Given the description of an element on the screen output the (x, y) to click on. 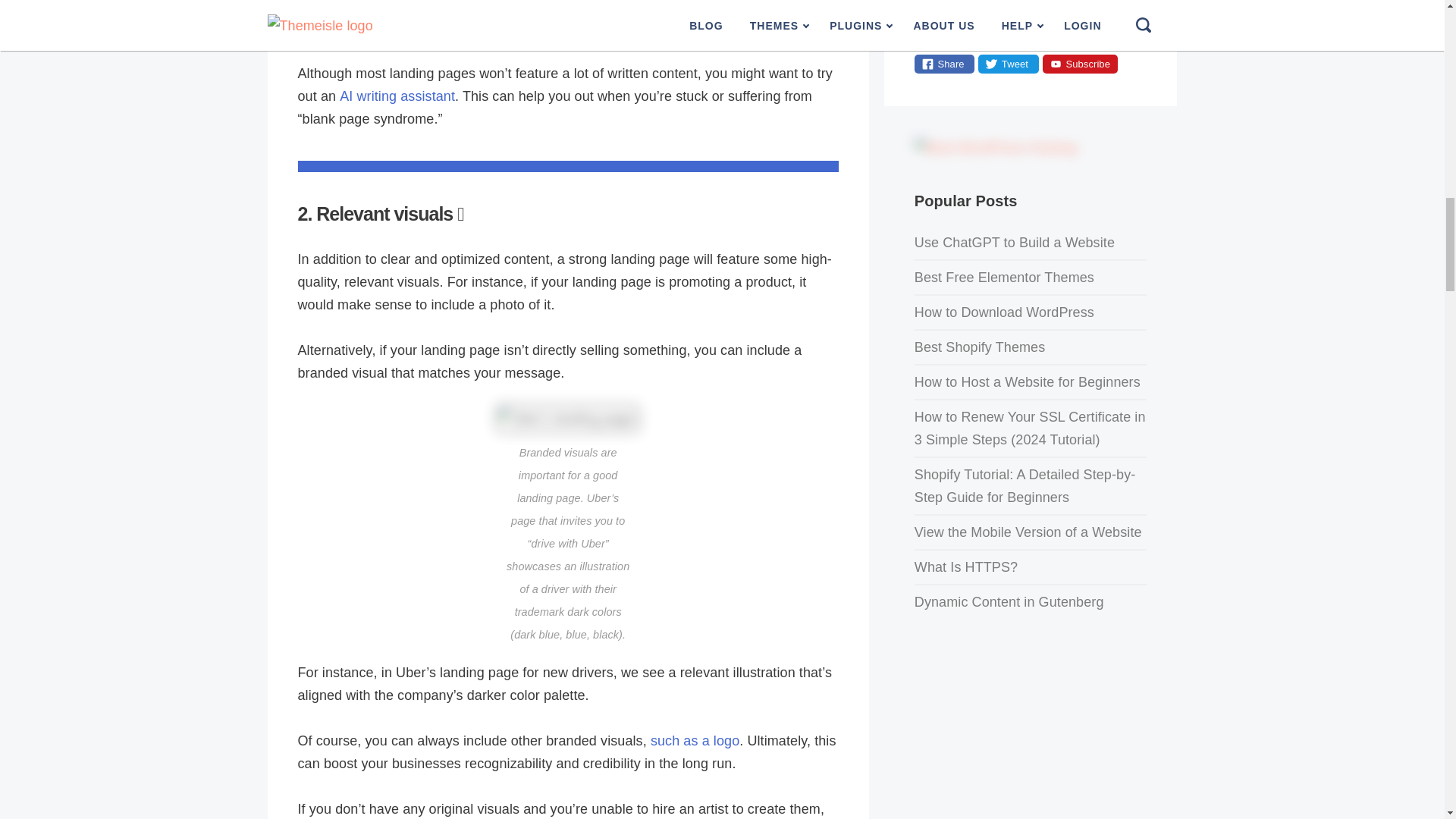
AI writing assistant (396, 96)
such as a logo (694, 740)
avoid keyword stuffing (549, 18)
